Given the description of an element on the screen output the (x, y) to click on. 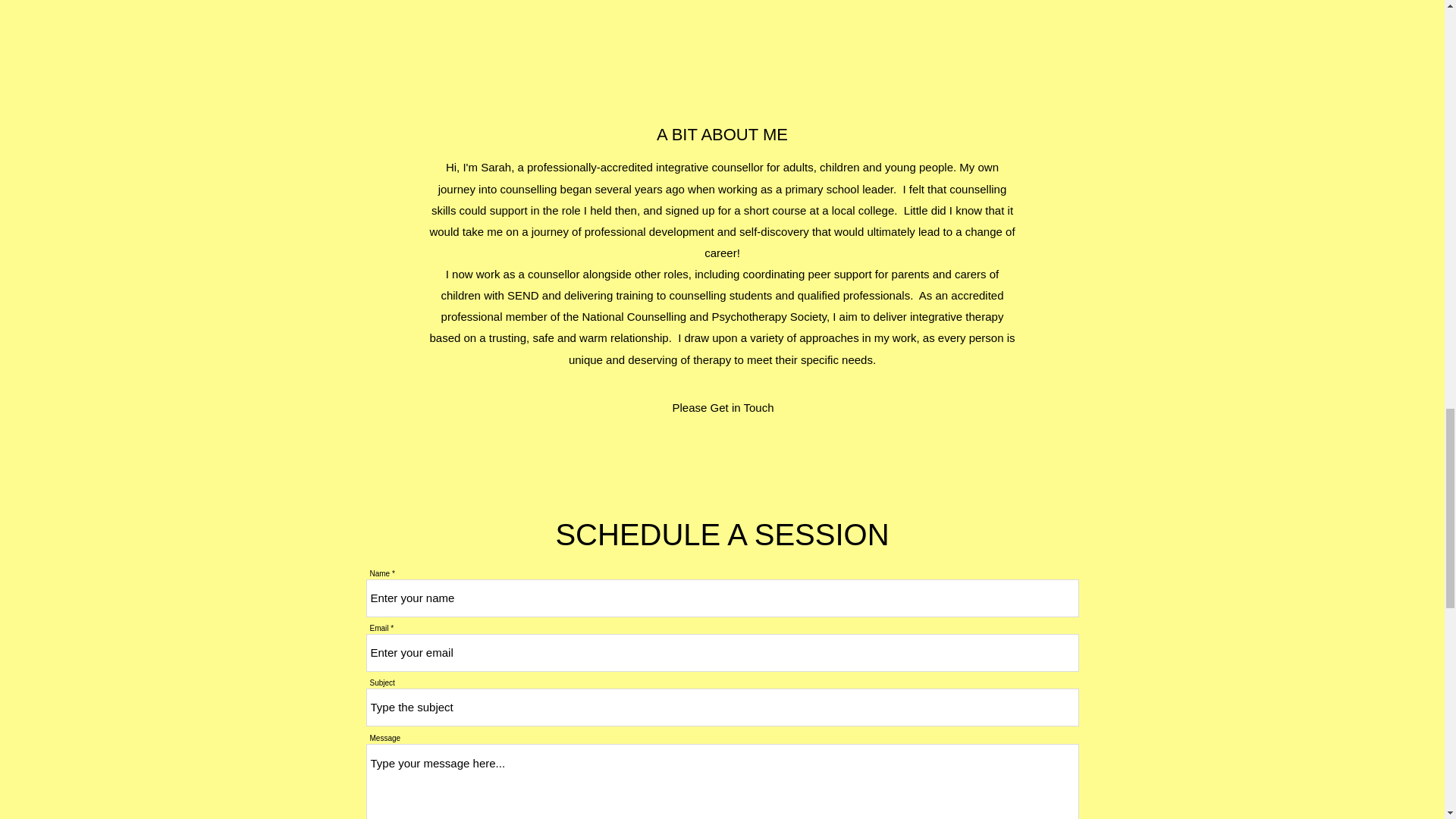
Please Get in Touch (722, 407)
